Given the description of an element on the screen output the (x, y) to click on. 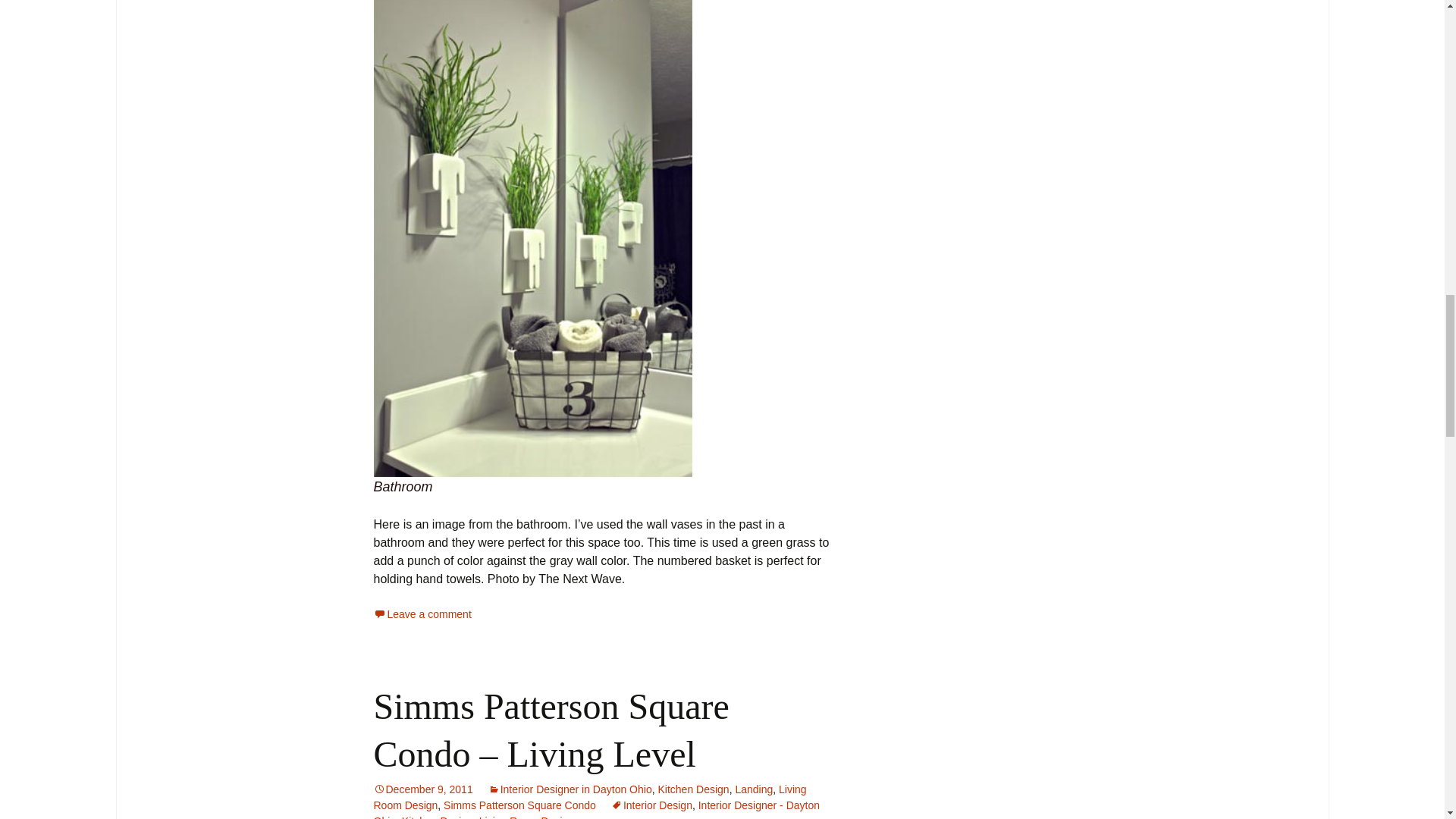
December 9, 2011 (421, 788)
Simms Patterson Square Condo (519, 805)
Leave a comment (421, 613)
Living Room Design (589, 796)
Kitchen Design (437, 816)
Living Room Design (526, 816)
Interior Designer - Dayton Ohio (595, 809)
Landing (754, 788)
Interior Design (652, 805)
Kitchen Design (693, 788)
